Given the description of an element on the screen output the (x, y) to click on. 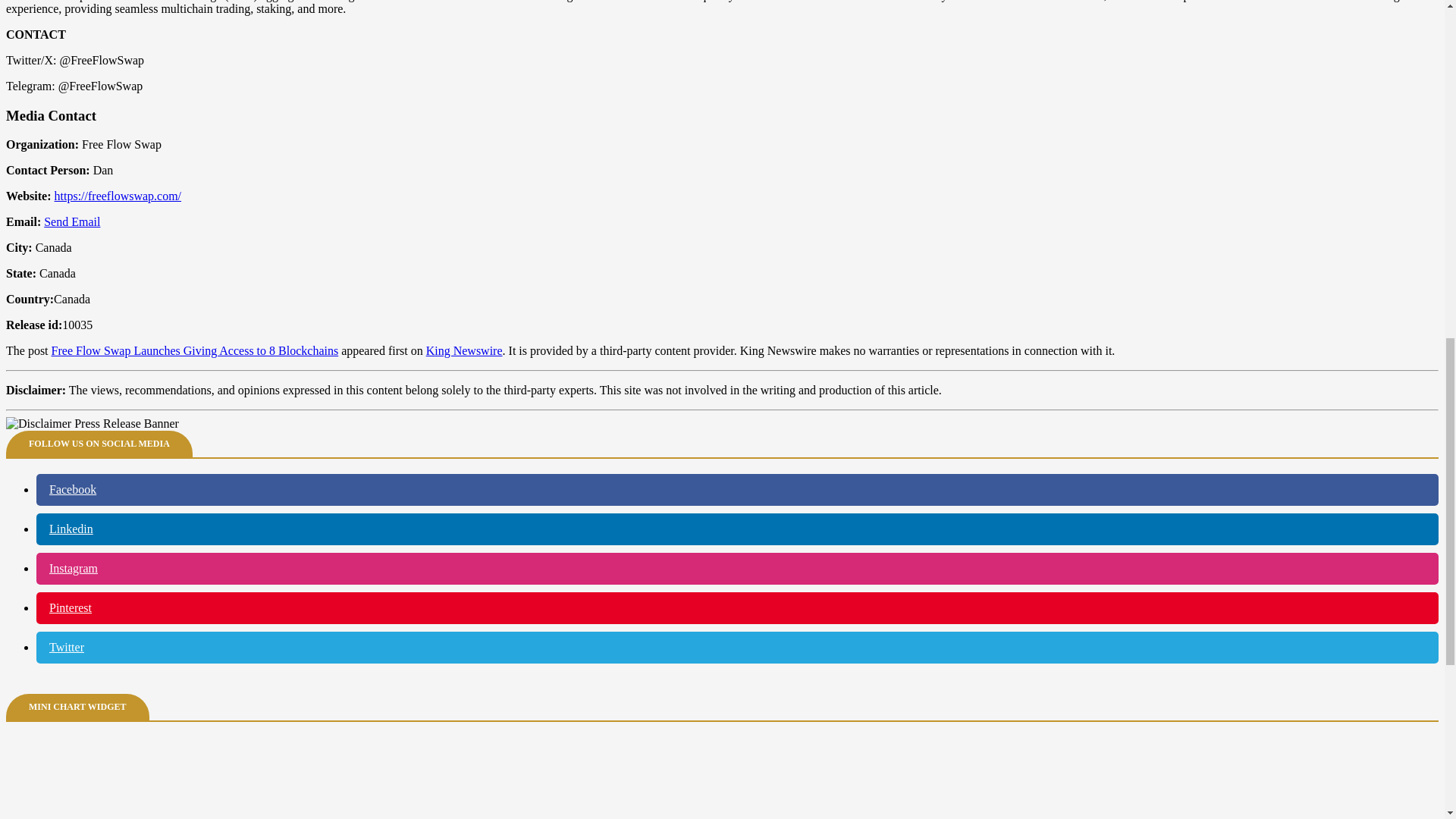
Free Flow Swap Launches Giving Access to 8 Blockchains (194, 350)
Send Email (71, 221)
King Newswire (464, 350)
